Given the description of an element on the screen output the (x, y) to click on. 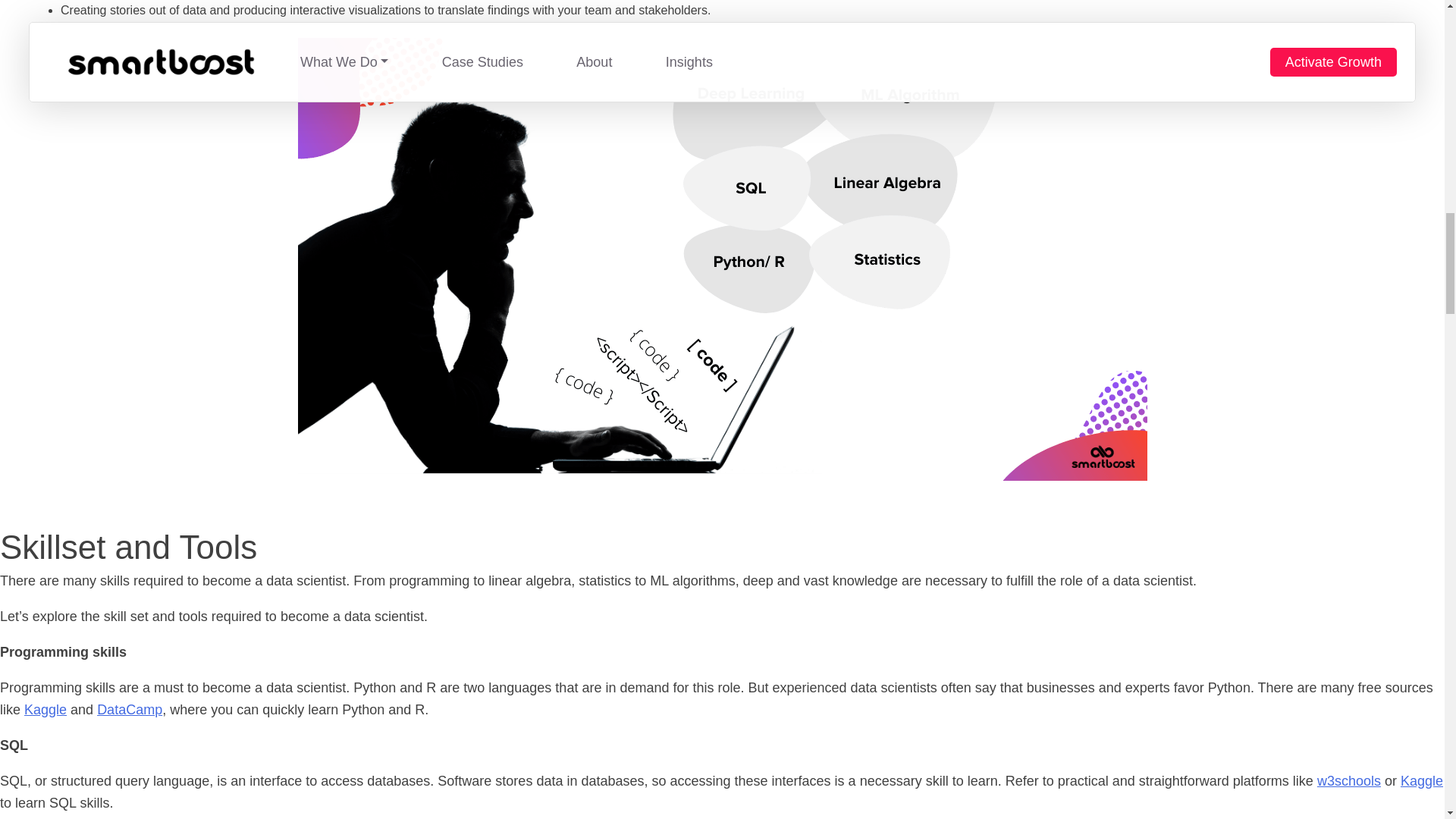
DataCamp (129, 709)
w3schools (1348, 780)
Kaggle (45, 709)
Kaggle (1421, 780)
